Given the description of an element on the screen output the (x, y) to click on. 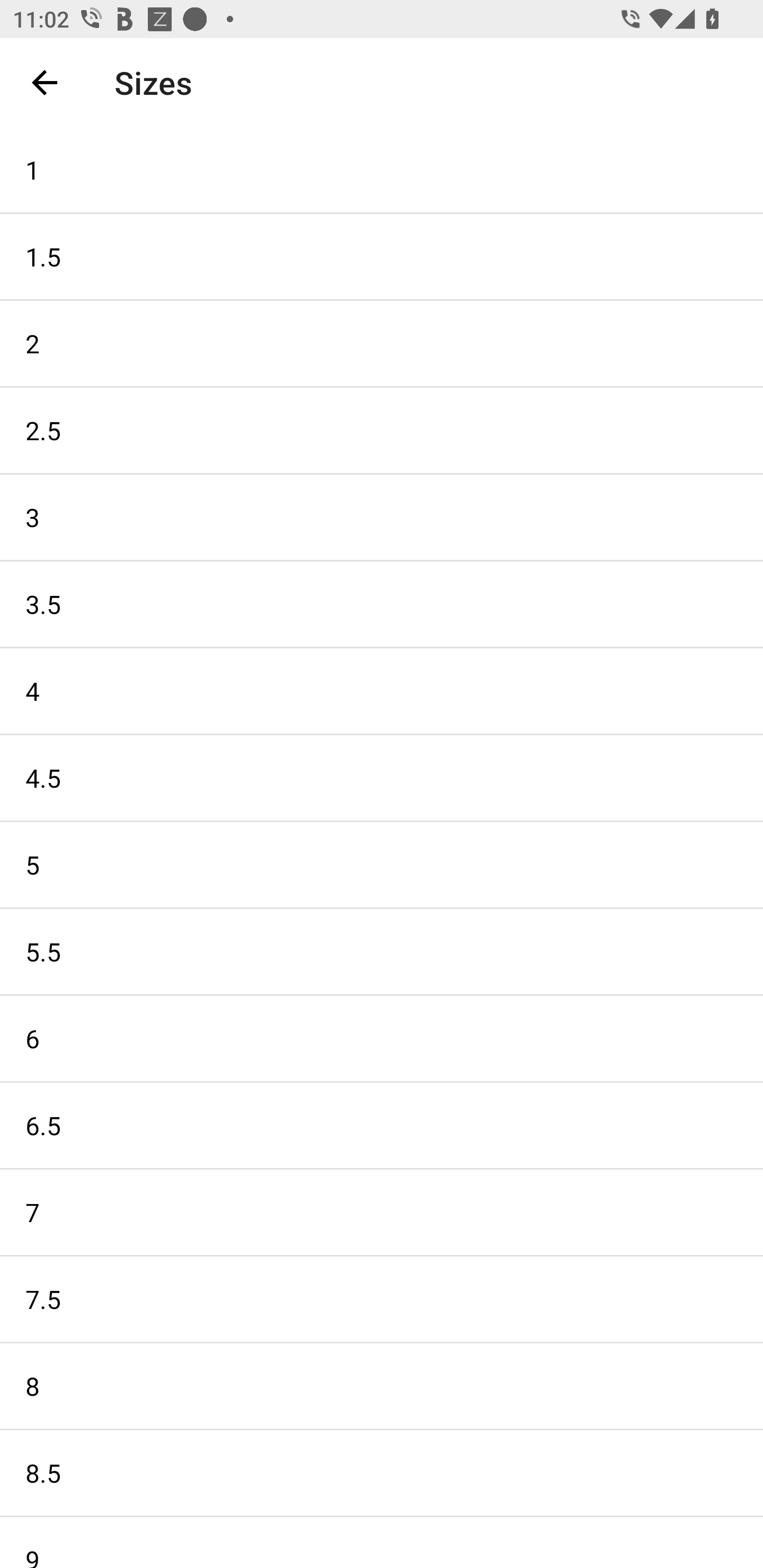
flats (370, 82)
1 (381, 169)
1.5 (381, 256)
2 (381, 343)
2.5 (381, 430)
3 (381, 517)
3.5 (381, 603)
4 (381, 691)
4.5 (381, 777)
5 (381, 864)
5.5 (381, 951)
6 (381, 1038)
6.5 (381, 1125)
7 (381, 1211)
7.5 (381, 1298)
8 (381, 1385)
8.5 (381, 1473)
9 (381, 1542)
